Given the description of an element on the screen output the (x, y) to click on. 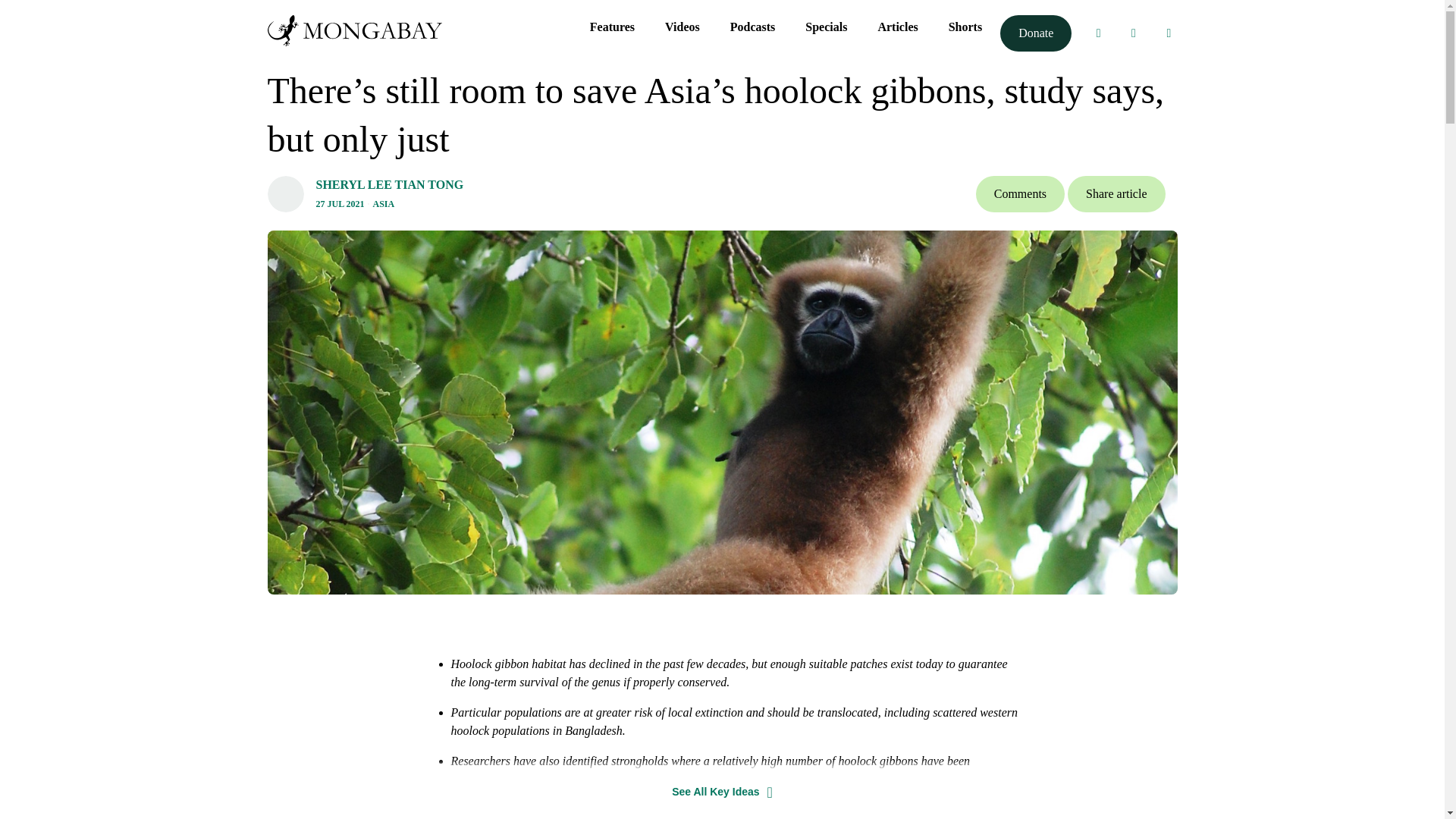
Articles (897, 26)
Features (611, 26)
Videos (682, 26)
Specials (826, 26)
Donate (1035, 33)
Podcasts (753, 26)
Shorts (965, 26)
